Given the description of an element on the screen output the (x, y) to click on. 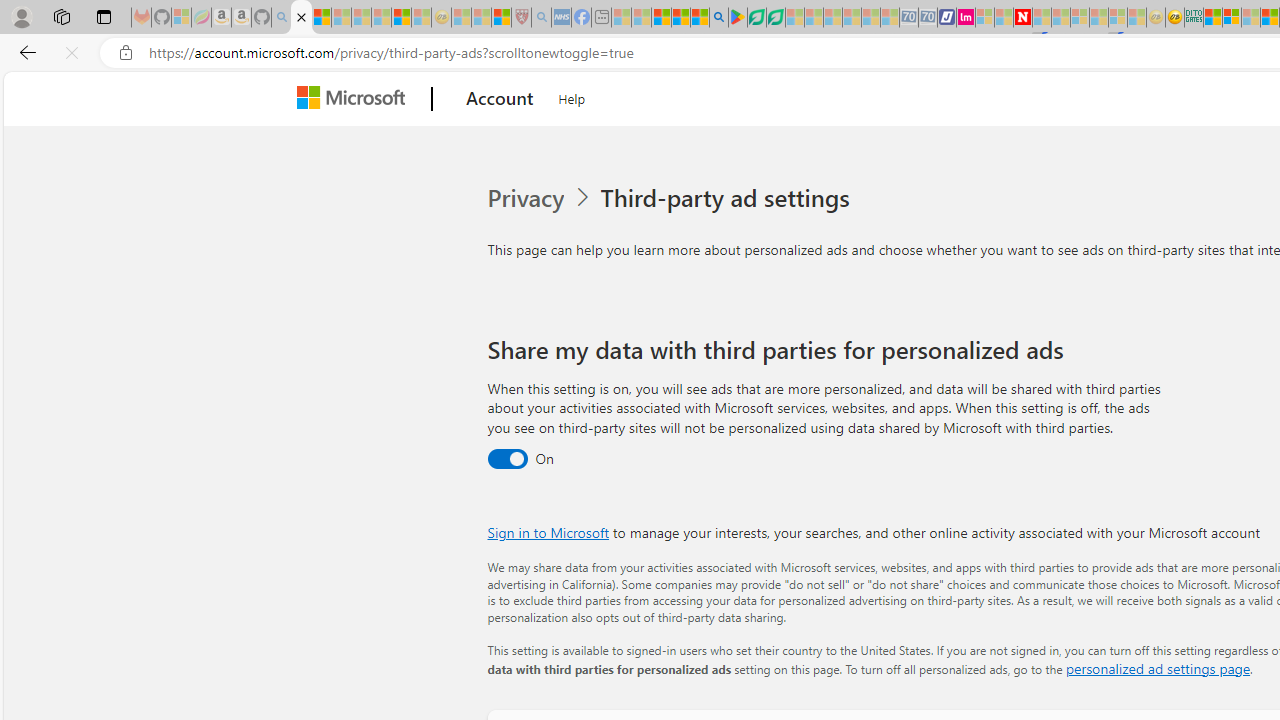
Terms of Use Agreement (756, 17)
Third-party ad settings (729, 197)
personalized ad settings page (1157, 668)
